Given the description of an element on the screen output the (x, y) to click on. 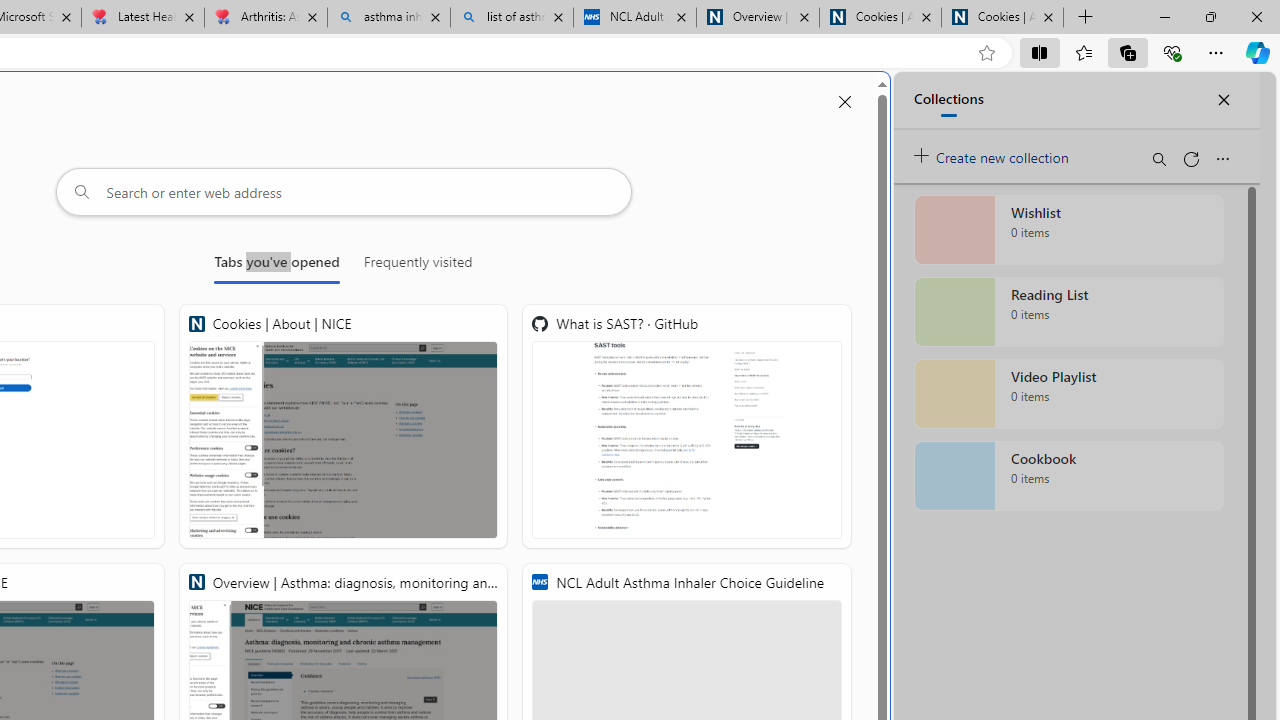
NCL Adult Asthma Inhaler Choice Guideline (634, 17)
Cookies | About | NICE (1002, 17)
Tabs you've opened (276, 265)
Frequently visited (418, 265)
Close split screen (844, 102)
